Given the description of an element on the screen output the (x, y) to click on. 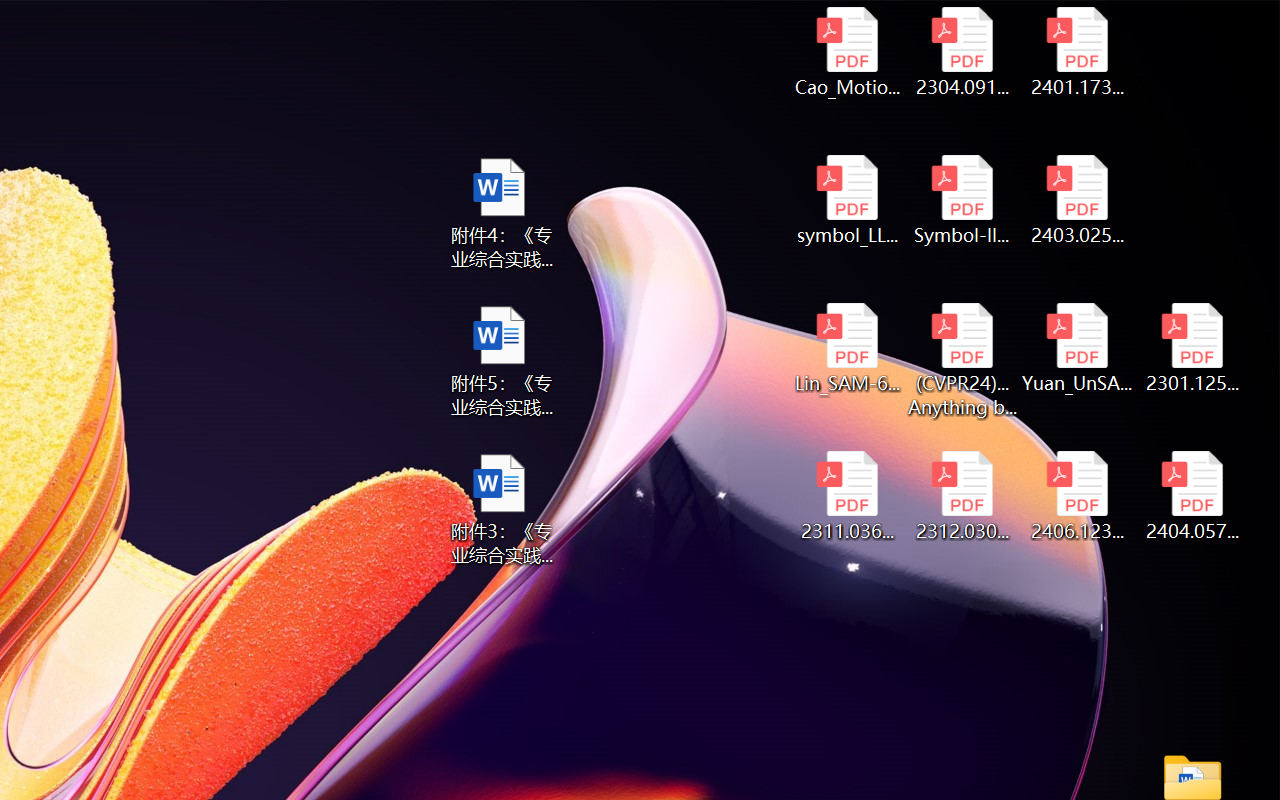
2301.12597v3.pdf (1192, 348)
Symbol-llm-v2.pdf (962, 200)
2311.03658v2.pdf (846, 496)
2304.09121v3.pdf (962, 52)
2403.02502v1.pdf (1077, 200)
2406.12373v2.pdf (1077, 496)
symbol_LLM.pdf (846, 200)
2404.05719v1.pdf (1192, 496)
(CVPR24)Matching Anything by Segmenting Anything.pdf (962, 360)
2401.17399v1.pdf (1077, 52)
